Given the description of an element on the screen output the (x, y) to click on. 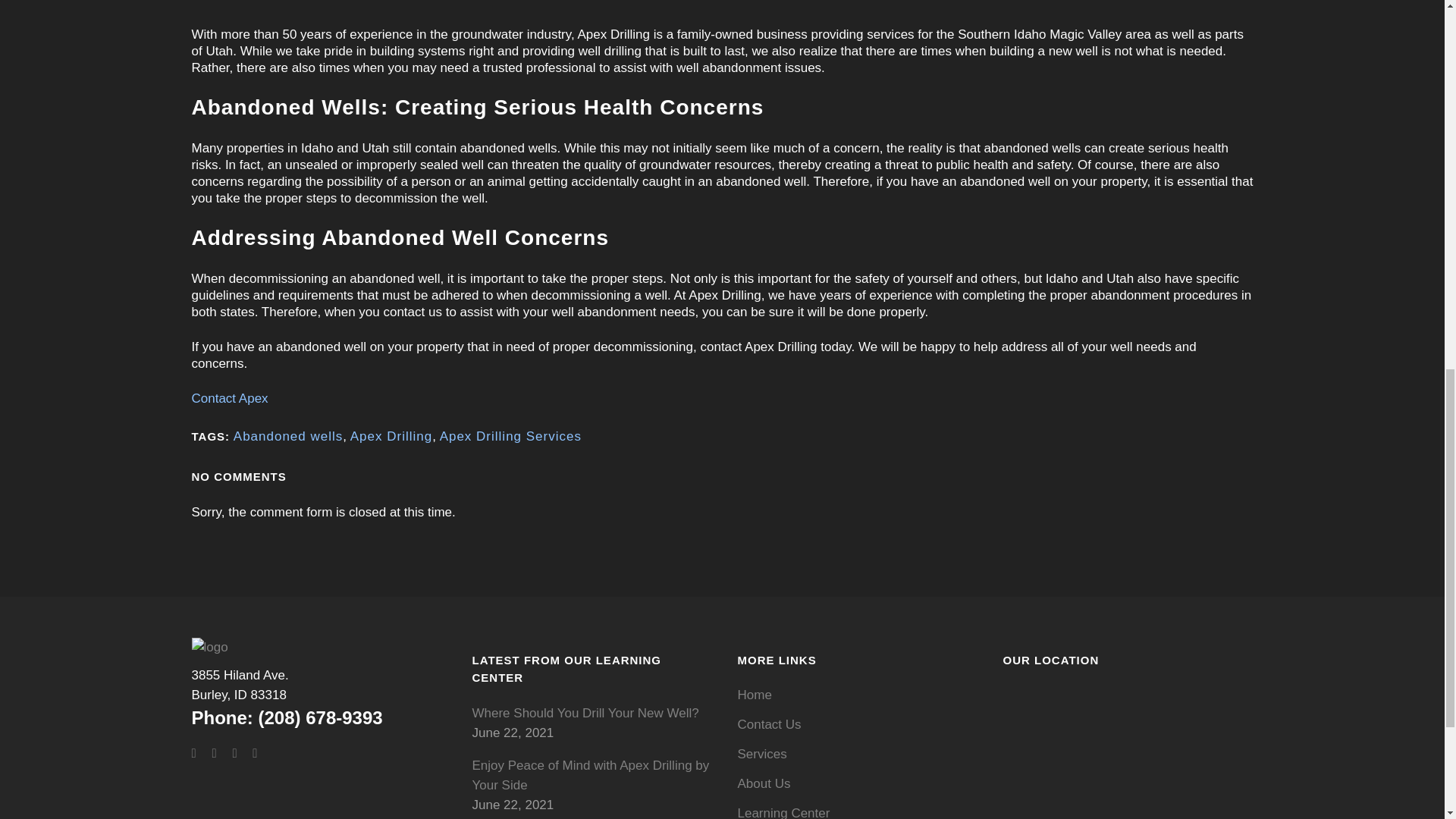
Abandoned wells (287, 436)
Apex Drilling Services (509, 436)
Apex Drilling (391, 436)
Contact Apex (239, 684)
